Given the description of an element on the screen output the (x, y) to click on. 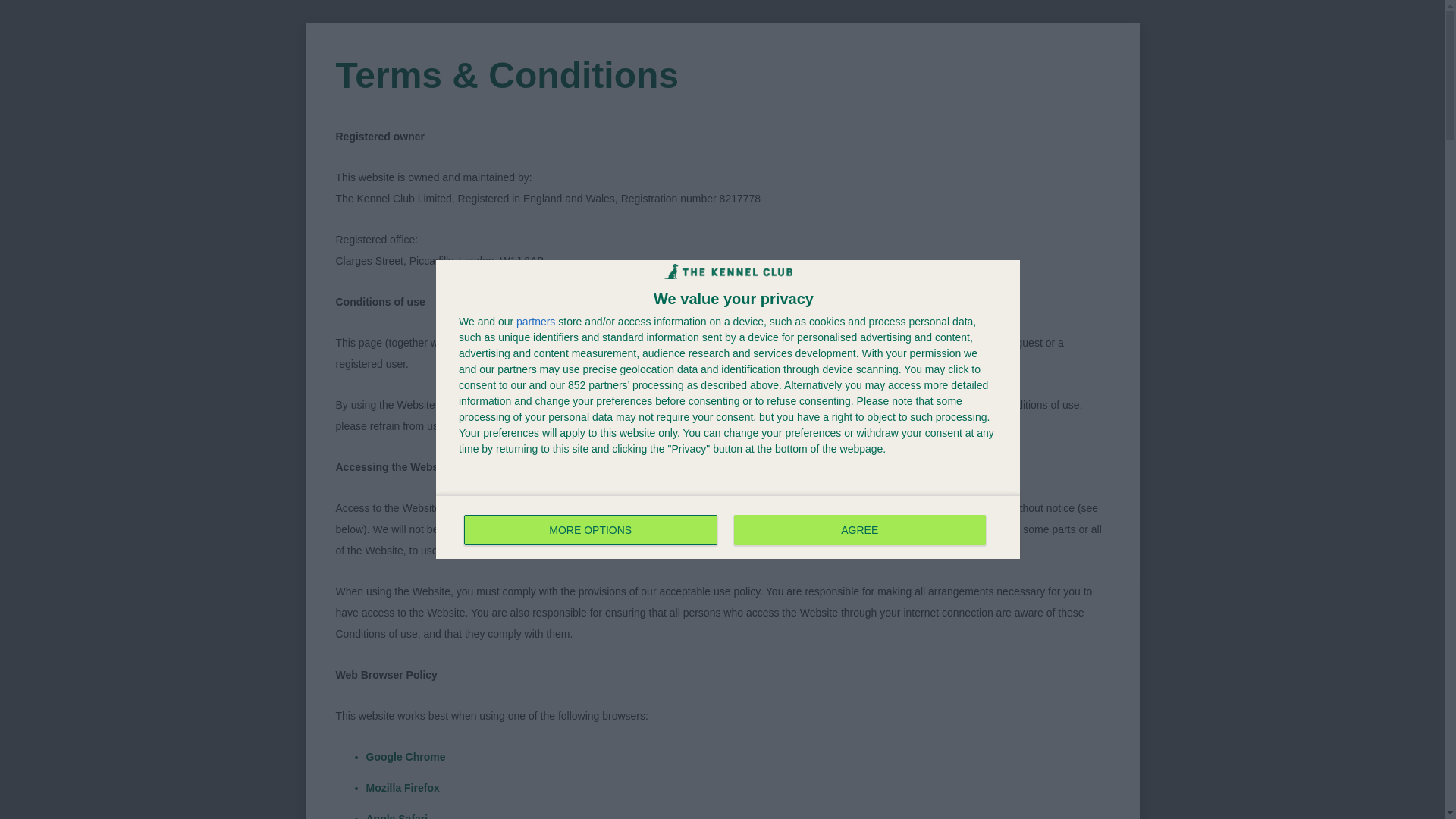
Apple Safari (396, 2)
Microsoft Edge (403, 30)
